Given the description of an element on the screen output the (x, y) to click on. 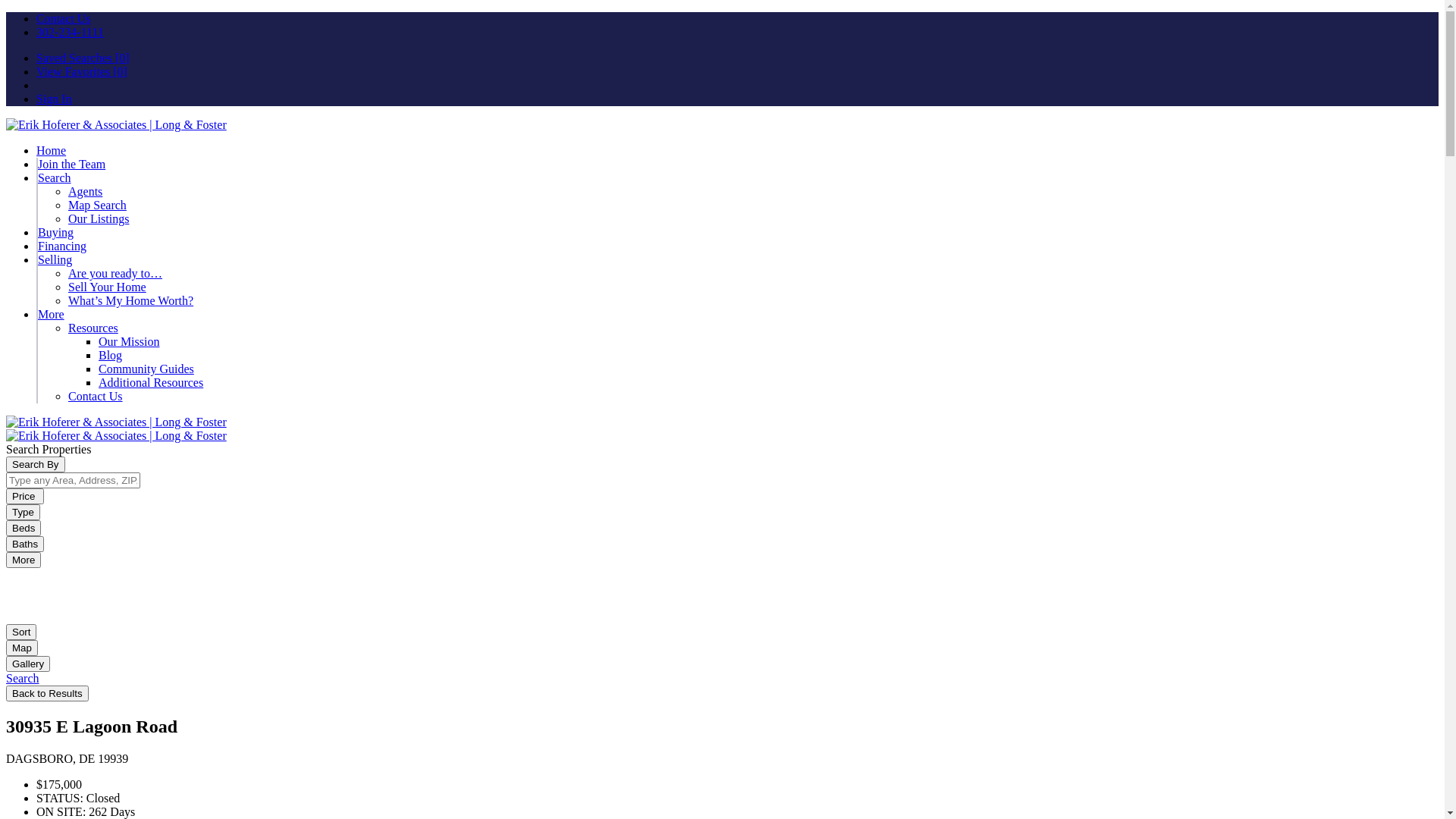
Join the Team Element type: text (71, 163)
Search By Element type: text (35, 464)
Back to Results Element type: text (47, 693)
More Element type: text (50, 313)
Beds Element type: text (23, 528)
Sell Your Home Element type: text (107, 286)
Blog Element type: text (110, 354)
Resources Element type: text (93, 327)
Price  Element type: text (24, 496)
Additional Resources Element type: text (150, 382)
Community Guides Element type: text (146, 368)
More Element type: text (23, 559)
Sort Element type: text (21, 632)
View Favorites [0] Element type: text (81, 71)
Type Element type: text (23, 512)
Financing Element type: text (61, 245)
Search Element type: text (54, 177)
Map Element type: text (21, 646)
Contact Us Element type: text (63, 18)
Gallery Element type: text (28, 662)
Buying Element type: text (55, 231)
302-234-1111 Element type: text (69, 31)
Our Mission Element type: text (128, 341)
Map Search Element type: text (97, 204)
Search Element type: text (22, 677)
Agents Element type: text (85, 191)
Map Element type: text (21, 647)
Sign In Element type: text (54, 98)
Gallery Element type: text (28, 663)
Selling Element type: text (54, 259)
Baths Element type: text (24, 544)
Contact Us Element type: text (95, 395)
Saved Searches [0] Element type: text (82, 57)
Our Listings Element type: text (98, 218)
Home Element type: text (50, 150)
